Given the description of an element on the screen output the (x, y) to click on. 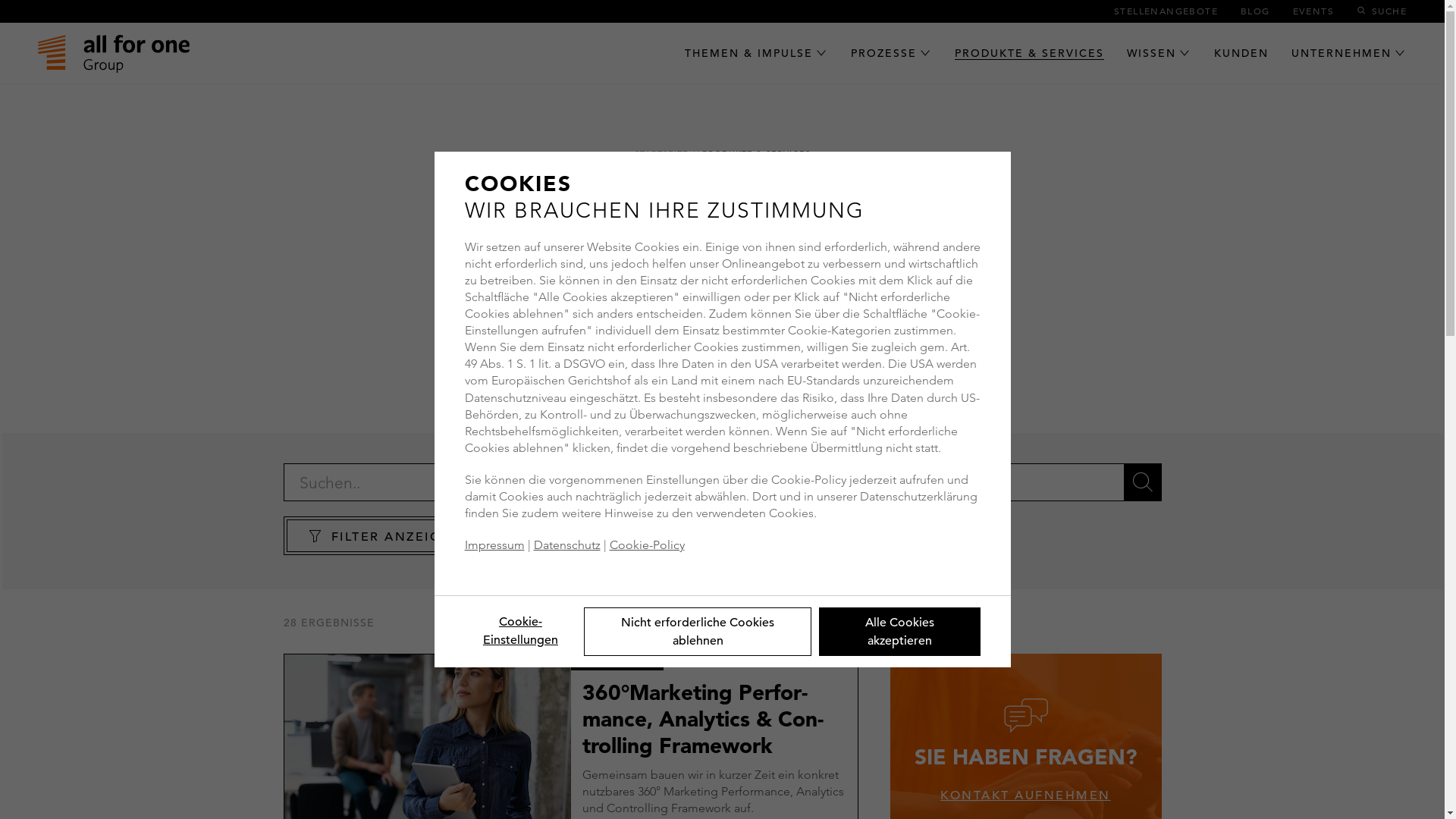
Impressum Element type: text (494, 544)
BLOG Element type: text (1255, 11)
STARTSEITE Element type: text (660, 153)
SUCHE Element type: text (1381, 11)
Cookie-Einstellungen Element type: text (520, 630)
EVENTS Element type: text (1312, 11)
PROZESSE Element type: text (883, 52)
WISSEN Element type: text (1151, 52)
Datenschutz Element type: text (566, 544)
KUNDEN Element type: text (1241, 53)
KONTAKT AUFNEHMEN Element type: text (1025, 795)
Home Element type: hover (113, 53)
THEMEN & IMPULSE Element type: text (748, 52)
Alle Cookies akzeptieren Element type: text (899, 631)
Nicht erforderliche Cookies ablehnen Element type: text (697, 631)
PRODUKTE & SERVICES Element type: text (1029, 53)
FILTER ANZEIGEN Element type: text (384, 535)
UNTERNEHMEN Element type: text (1341, 52)
Cookie-Policy Element type: text (646, 544)
STELLENANGEBOTE Element type: text (1165, 11)
